Given the description of an element on the screen output the (x, y) to click on. 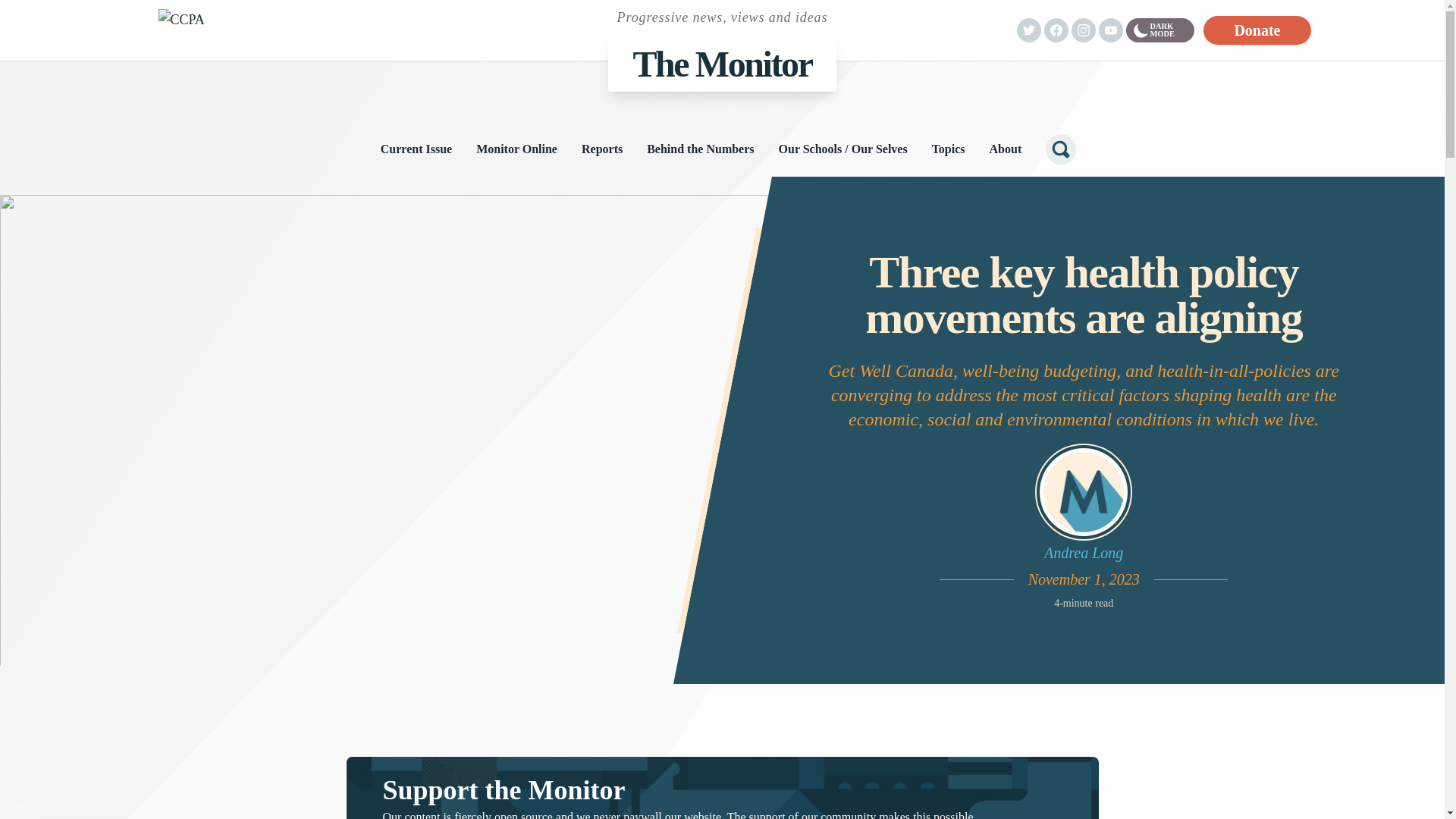
DARK MODE (1159, 30)
The Monitor (721, 63)
Donate (1257, 29)
Twitter (1028, 30)
